Given the description of an element on the screen output the (x, y) to click on. 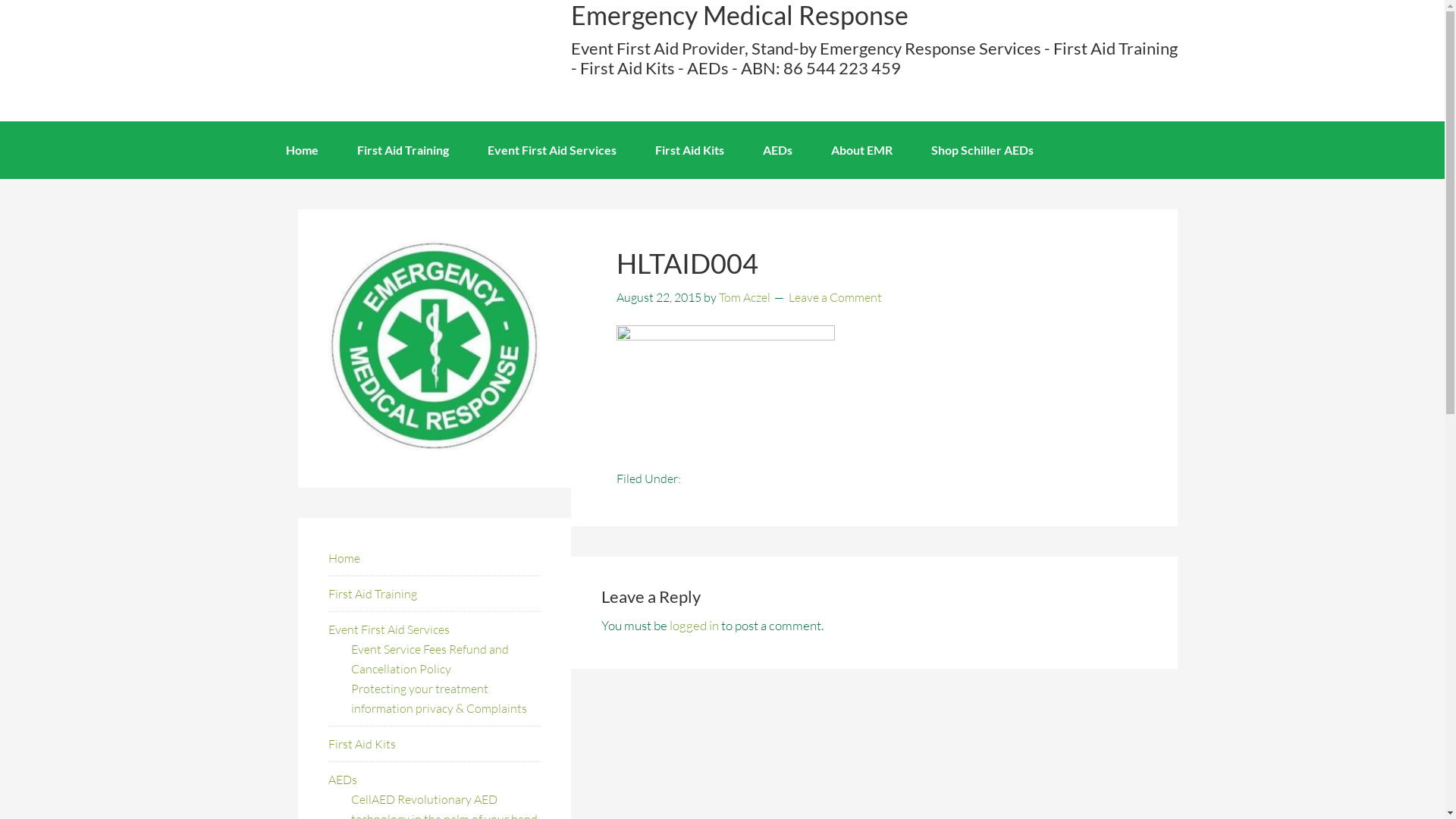
Event Service Fees Refund and Cancellation Policy Element type: text (429, 658)
AEDs Element type: text (777, 149)
Event First Aid Services Element type: text (550, 149)
About EMR Element type: text (861, 149)
First Aid Training Element type: text (371, 593)
Emergency Medical Response Element type: text (380, 58)
Home Element type: text (300, 149)
Leave a Comment Element type: text (834, 296)
Event First Aid Services Element type: text (387, 629)
Shop Schiller AEDs Element type: text (982, 149)
First Aid Kits Element type: text (361, 743)
logged in Element type: text (693, 625)
Home Element type: text (343, 557)
Tom Aczel Element type: text (744, 296)
First Aid Kits Element type: text (689, 149)
Protecting your treatment information privacy & Complaints Element type: text (438, 697)
AEDs Element type: text (341, 779)
First Aid Training Element type: text (402, 149)
